Given the description of an element on the screen output the (x, y) to click on. 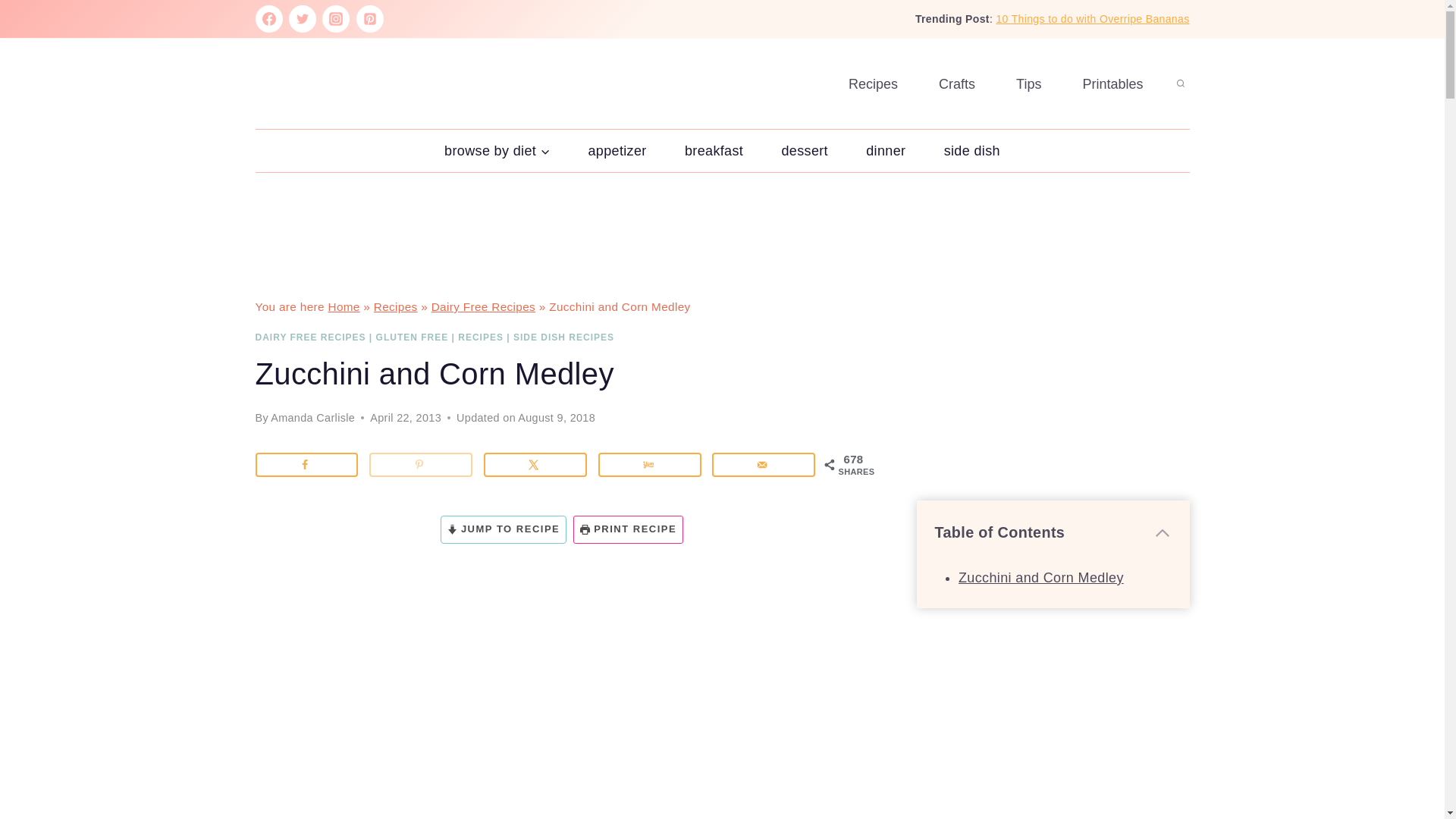
RECIPES (480, 337)
Share on Yummly (649, 464)
Share on X (534, 464)
dessert (804, 150)
SIDE DISH RECIPES (563, 337)
Printables (1112, 83)
Amanda Carlisle (312, 417)
side dish (972, 150)
Dairy Free Recipes (482, 306)
Save to Pinterest (420, 464)
browse by diet (497, 150)
DAIRY FREE RECIPES (309, 337)
Tips (1028, 83)
breakfast (713, 150)
Recipes (395, 306)
